Given the description of an element on the screen output the (x, y) to click on. 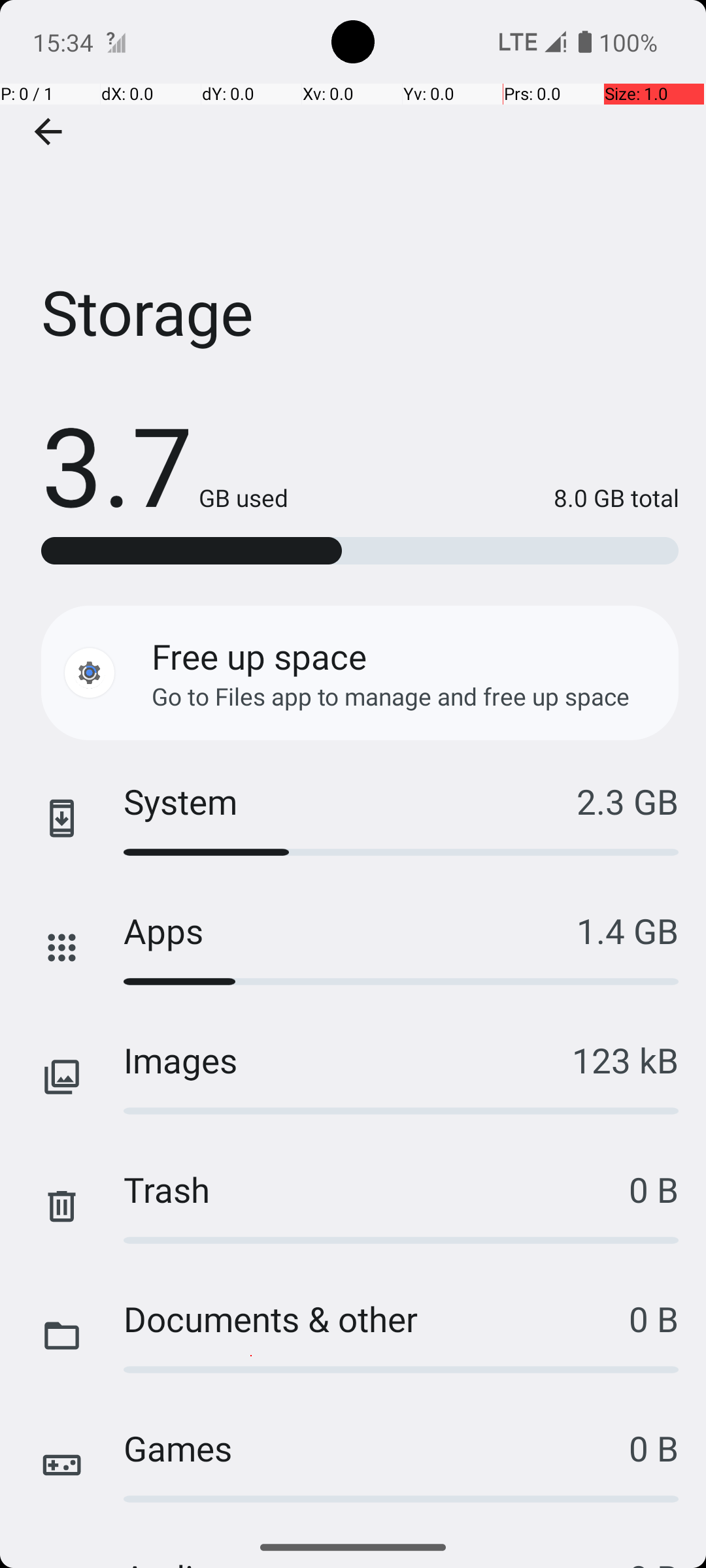
3.7 GB used Element type: android.widget.TextView (164, 463)
2.3 GB Element type: android.widget.TextView (627, 801)
1.4 GB Element type: android.widget.TextView (627, 930)
123 kB Element type: android.widget.TextView (624, 1059)
